Given the description of an element on the screen output the (x, y) to click on. 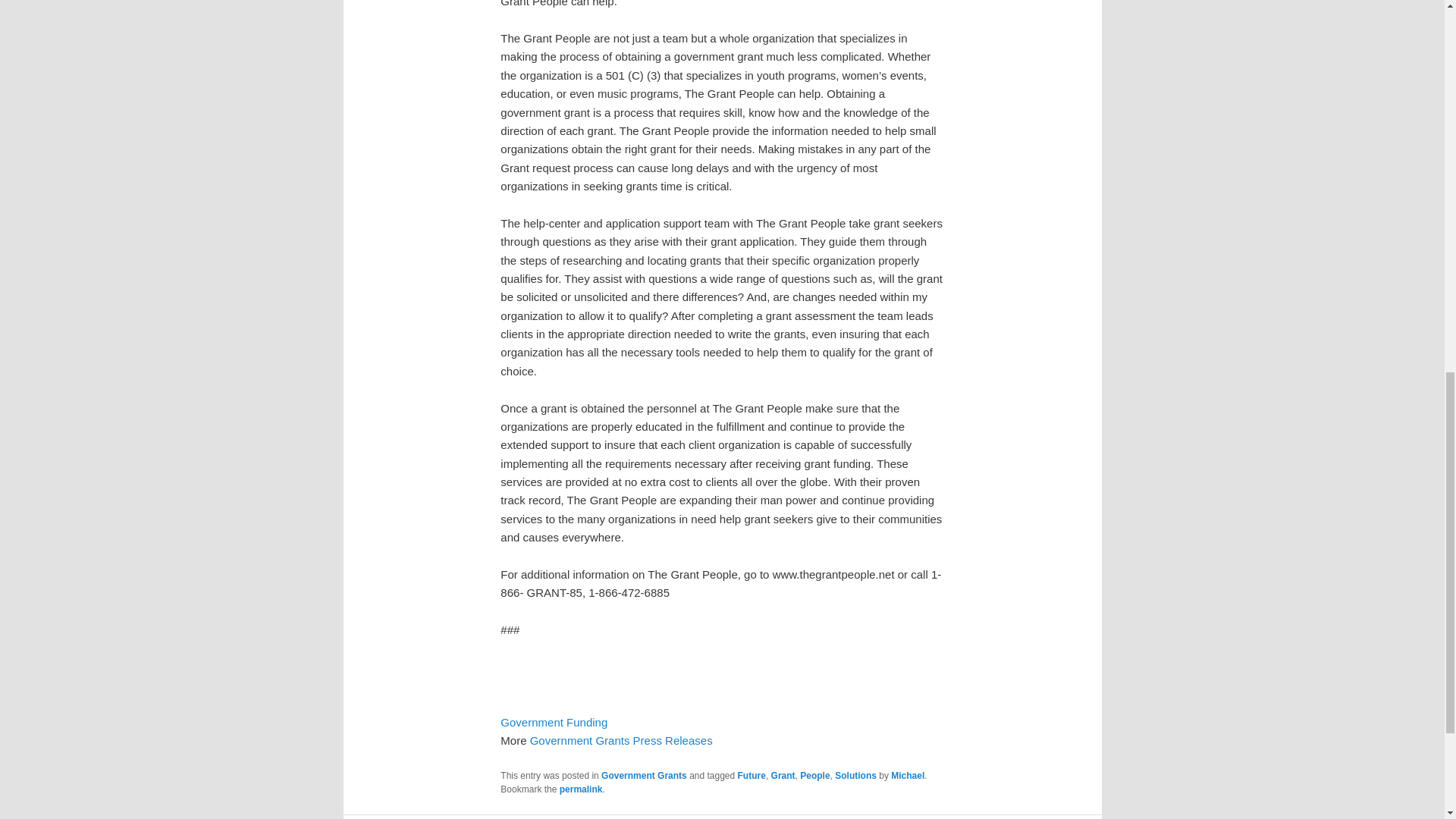
Future (751, 775)
Michael (907, 775)
People (814, 775)
Government Funding (553, 721)
Government Grants (644, 775)
Grant (782, 775)
Solutions (855, 775)
Government Grants Press Releases (621, 739)
Permalink to The Grant People, Solutions for the Future (580, 788)
permalink (580, 788)
